Given the description of an element on the screen output the (x, y) to click on. 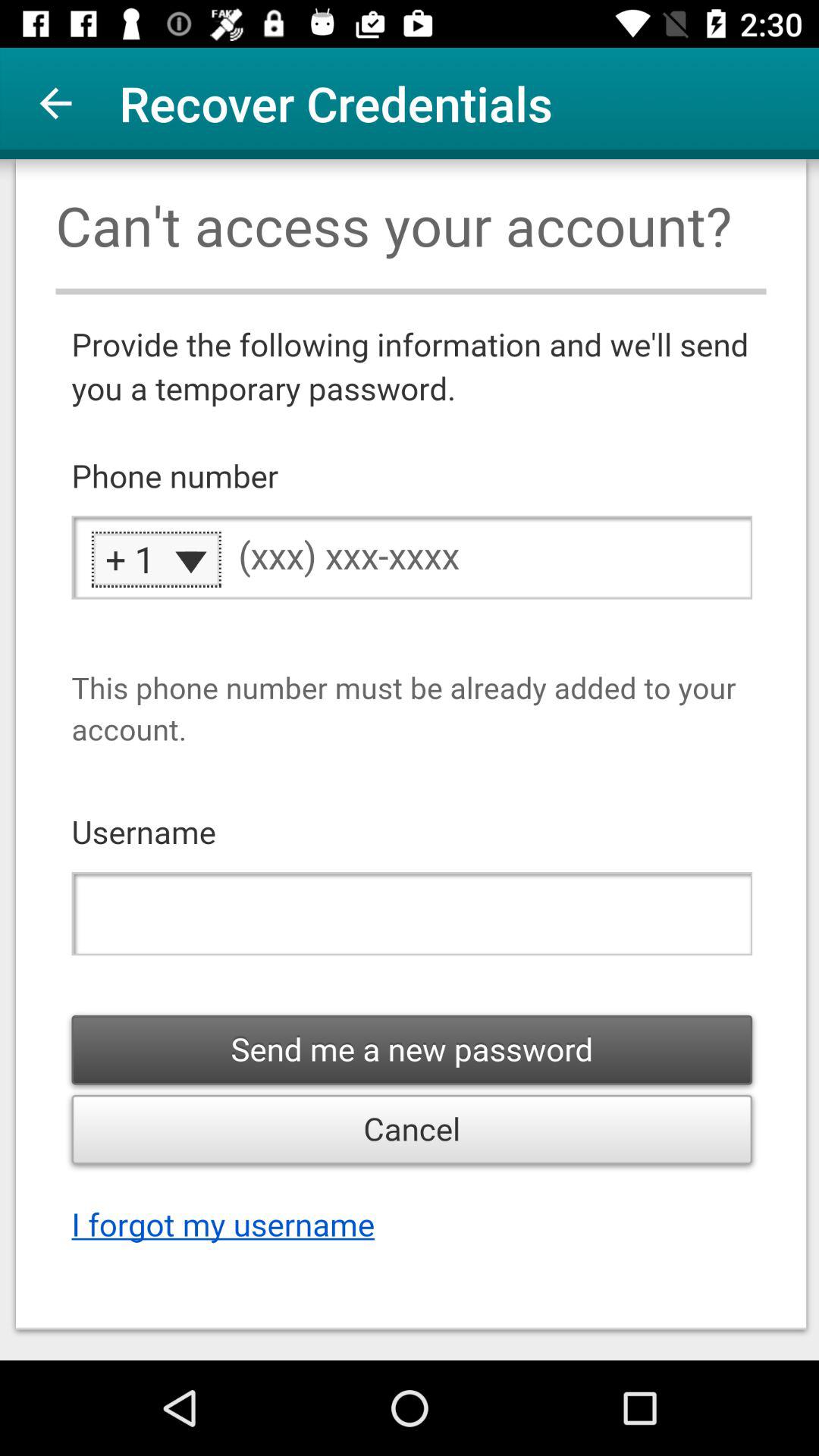
access your account (409, 759)
